Given the description of an element on the screen output the (x, y) to click on. 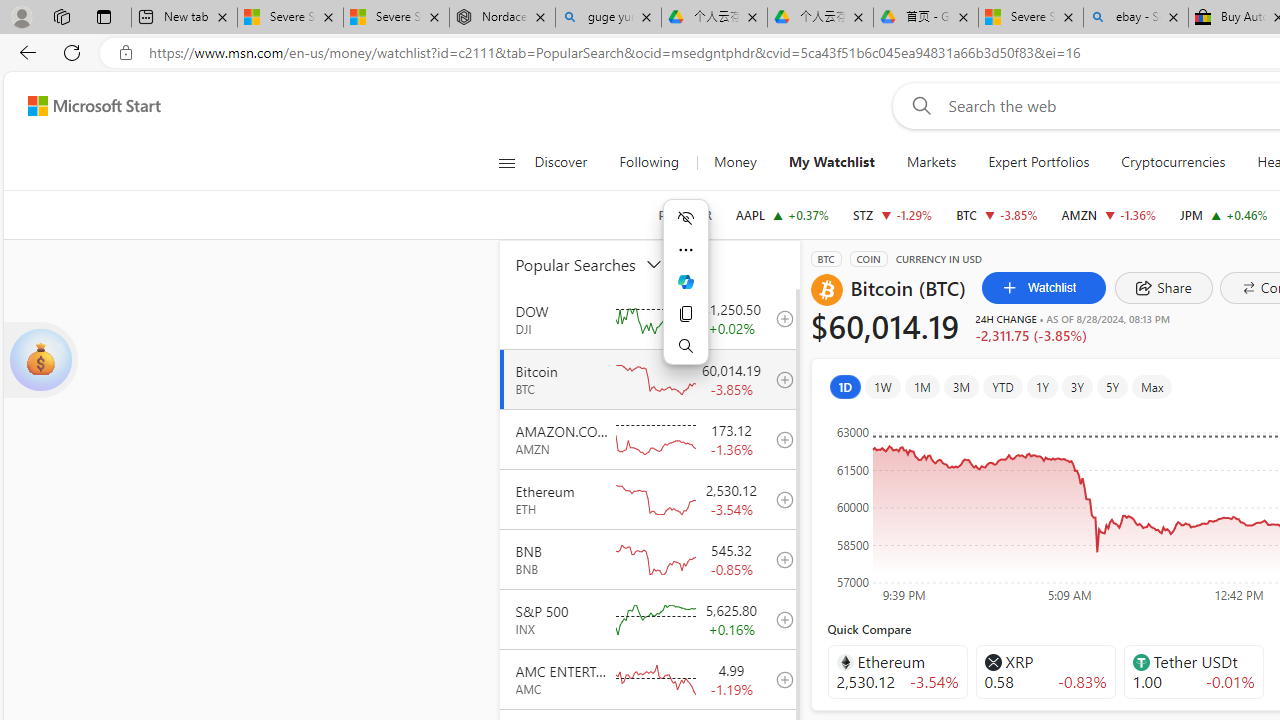
Money (735, 162)
Ask Copilot (685, 281)
Watchlist (1043, 287)
Mini menu on text selection (685, 282)
Expert Portfolios (1039, 162)
Class: autoSuggestIcon-DS-EntryPoint1-3 (1140, 662)
Copy (685, 313)
1D (845, 386)
My Watchlist (831, 162)
1W (882, 386)
